Given the description of an element on the screen output the (x, y) to click on. 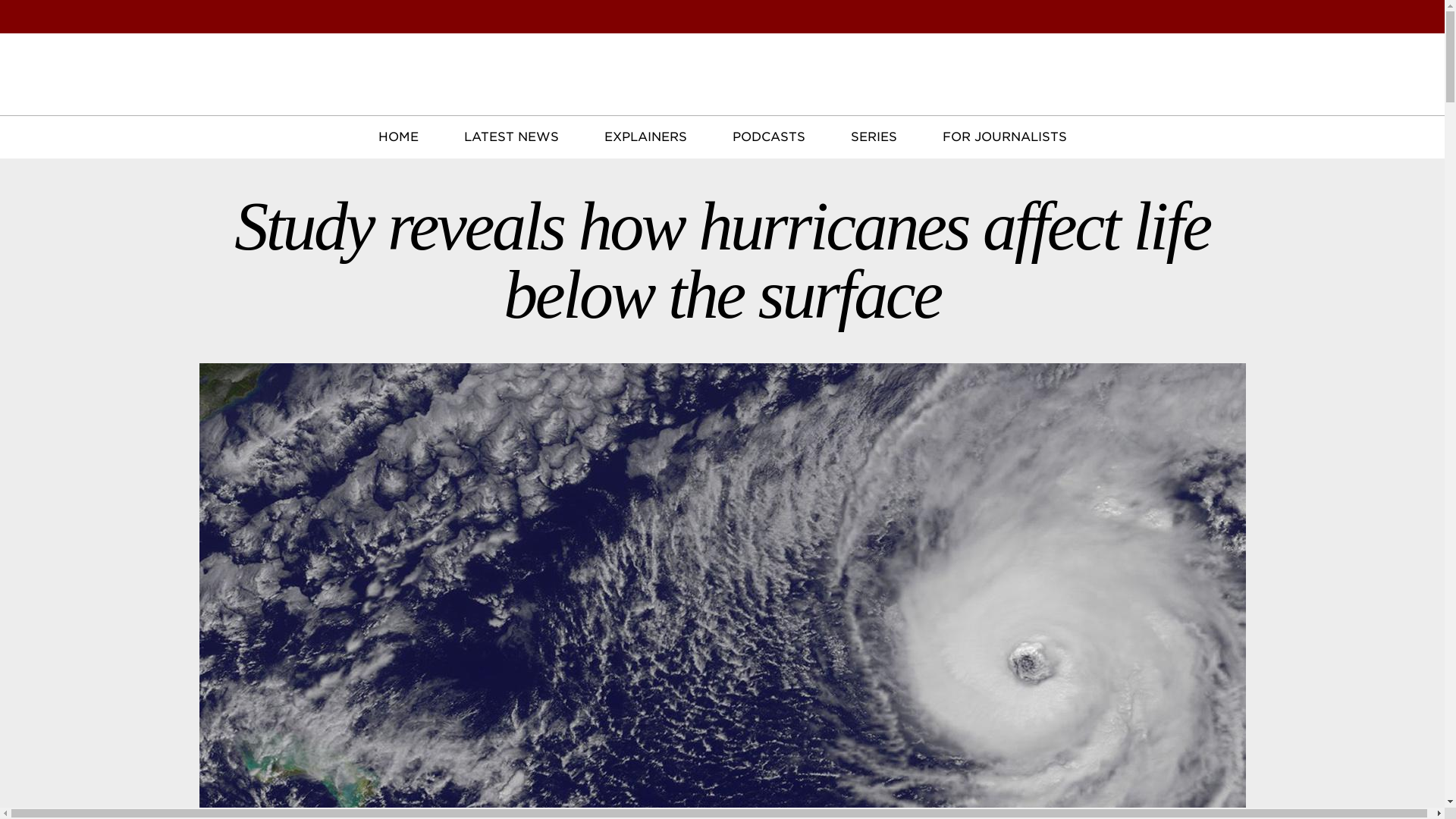
LATEST NEWS (511, 137)
Home (721, 91)
SERIES (873, 137)
Search (1422, 16)
PODCASTS (768, 137)
FOR JOURNALISTS (1003, 137)
The University of Chicago (106, 36)
HOME (397, 137)
The University of Chicago (106, 69)
The University of Chicago (106, 69)
EXPLAINERS (644, 137)
